Given the description of an element on the screen output the (x, y) to click on. 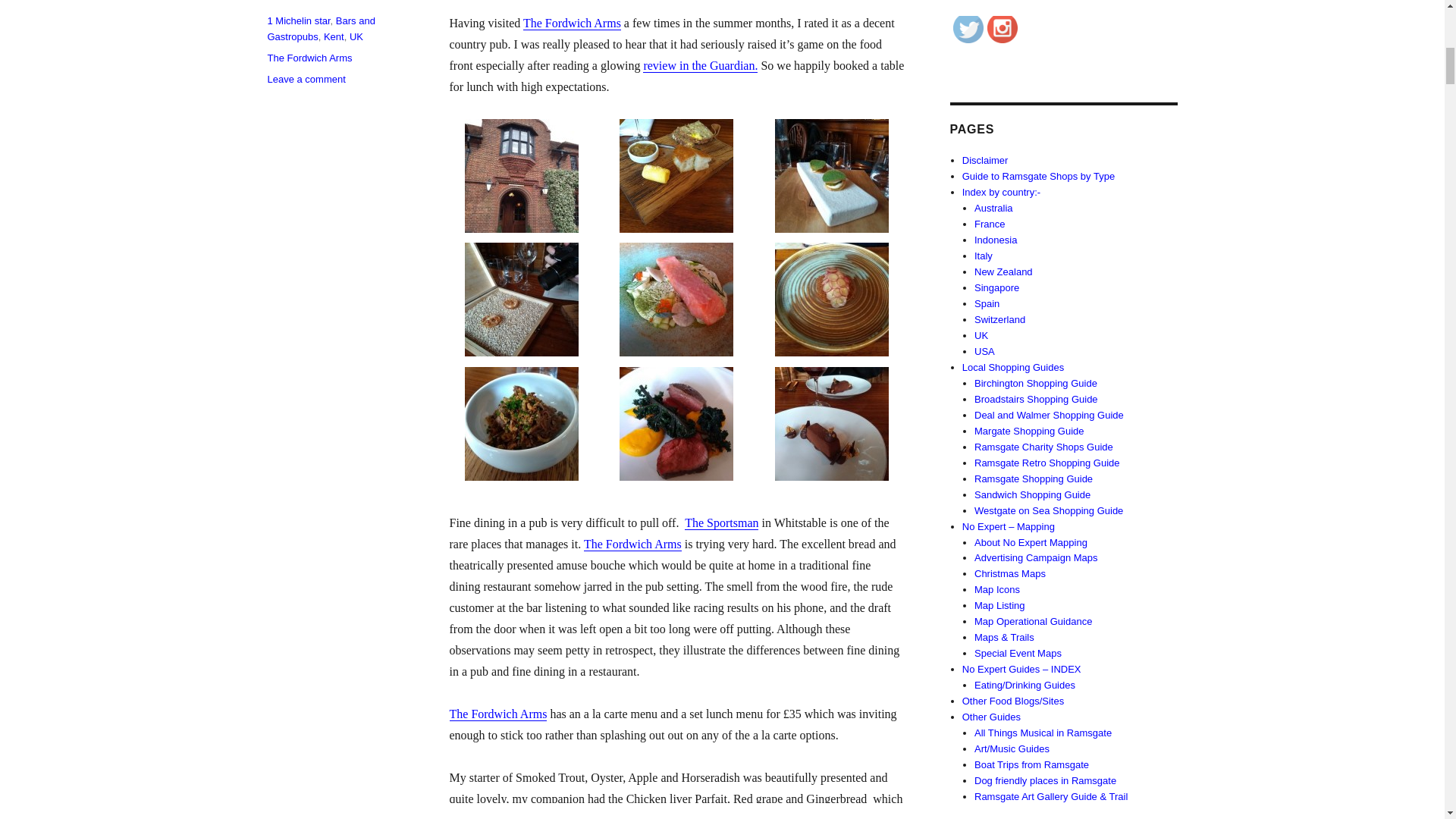
The Fordwich Arms (571, 22)
The Fordwich Arms (632, 543)
The Fordwich Arms (497, 713)
